Given the description of an element on the screen output the (x, y) to click on. 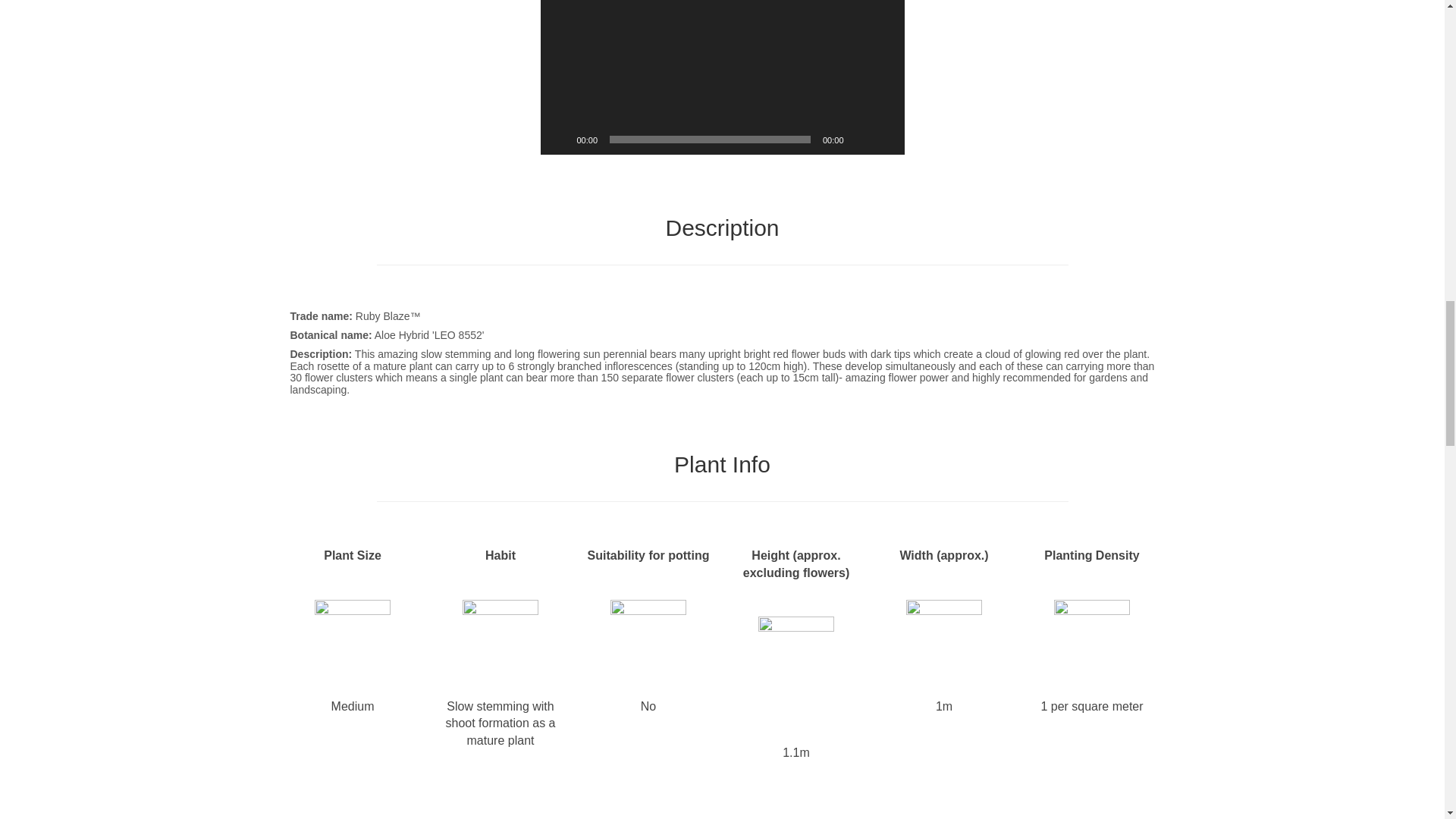
Medium Size (352, 637)
Play (559, 139)
Mute (859, 139)
Artboard 23 (647, 637)
Fullscreen (883, 139)
